Given the description of an element on the screen output the (x, y) to click on. 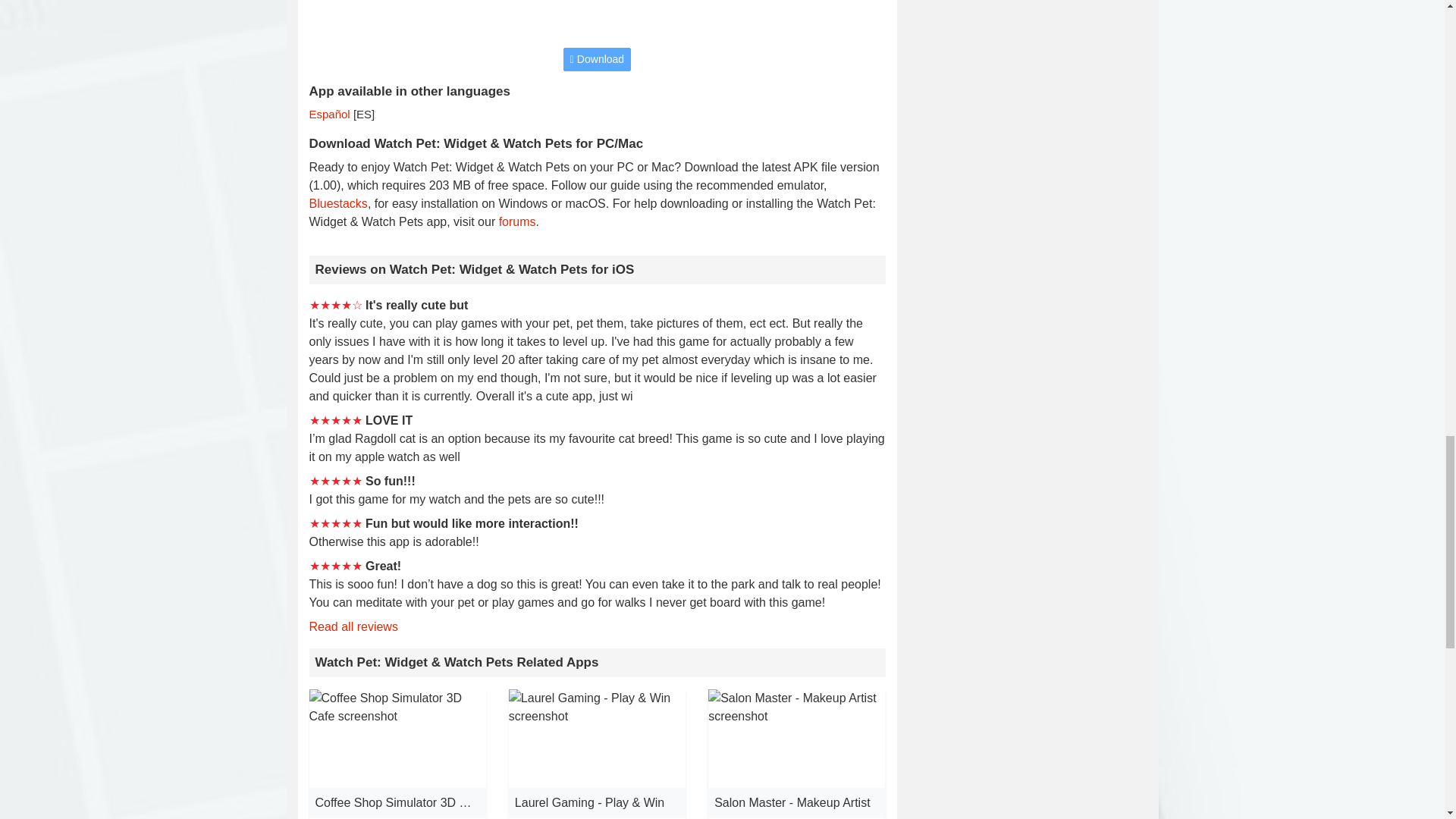
Read all reviews (352, 626)
Download (596, 59)
forums (517, 221)
Bluestacks (338, 203)
